Given the description of an element on the screen output the (x, y) to click on. 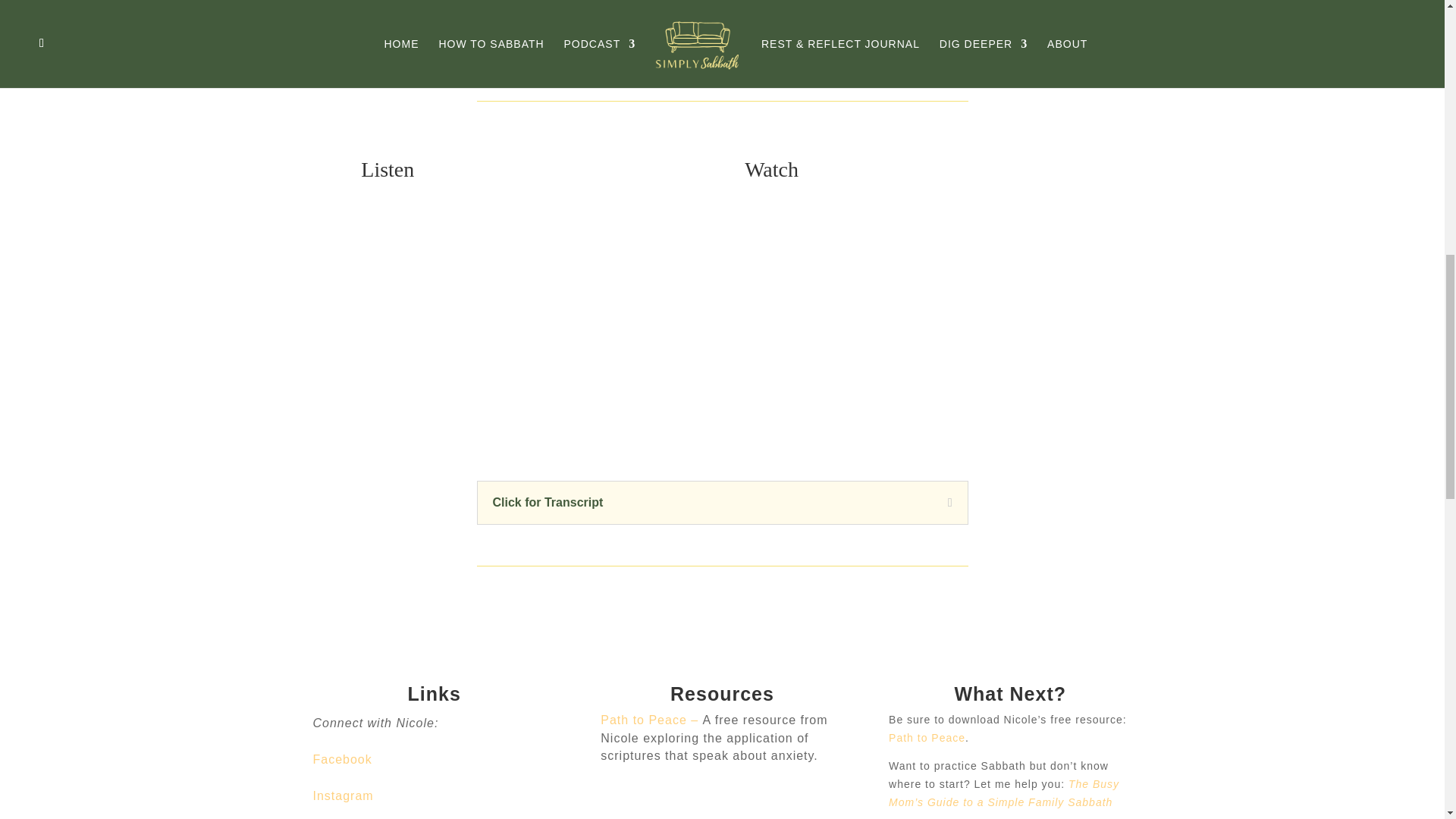
Instagram (342, 795)
Facebook (342, 758)
YouTube video player (937, 319)
Path to Peace (926, 737)
